Given the description of an element on the screen output the (x, y) to click on. 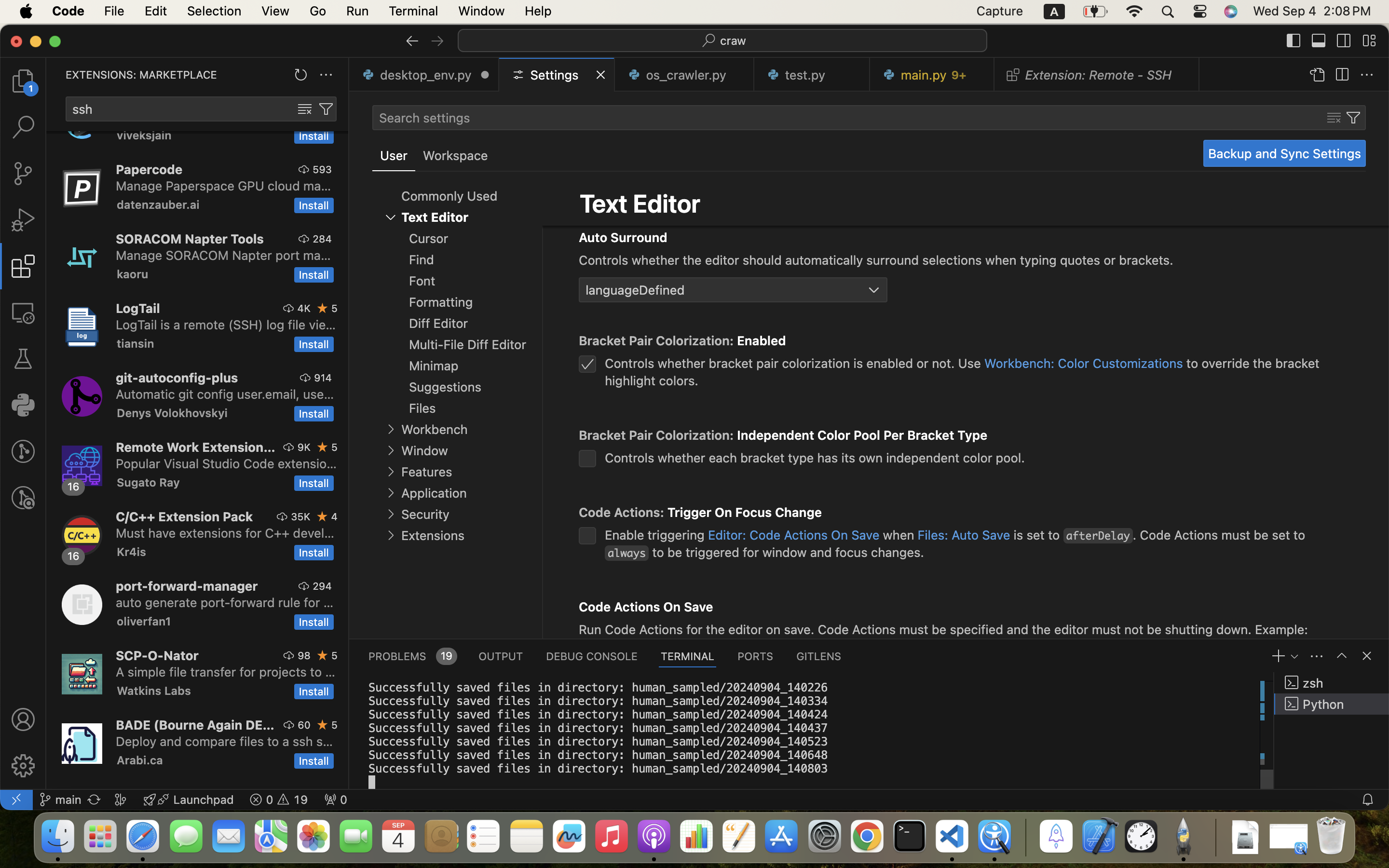
Extensions Element type: AXStaticText (432, 535)
always Element type: AXStaticText (626, 553)
Launchpad   Element type: AXButton (188, 799)
main  Element type: AXButton (59, 799)
Code Actions On Save Element type: AXStaticText (645, 606)
